Given the description of an element on the screen output the (x, y) to click on. 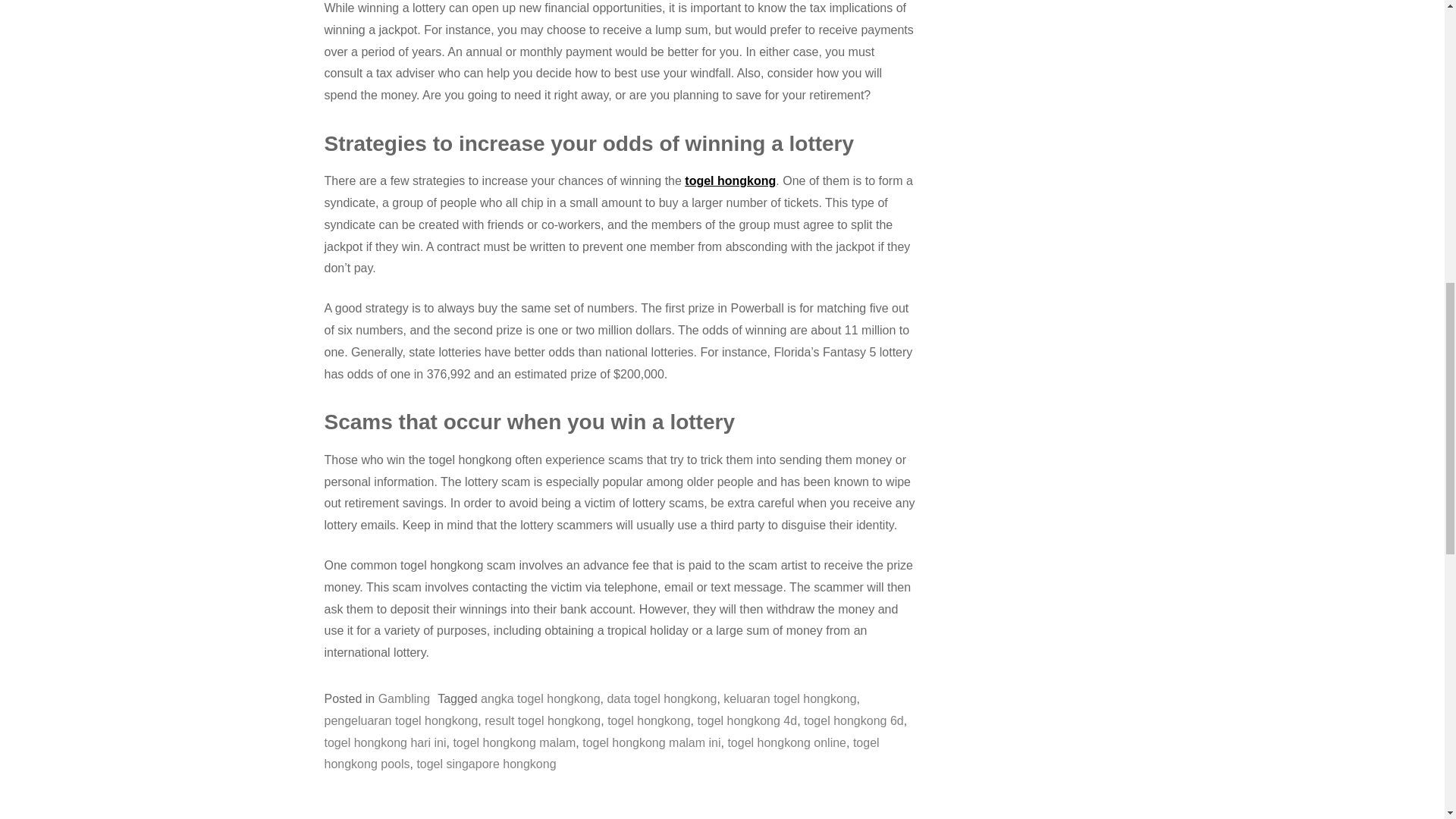
togel hongkong malam (513, 742)
togel hongkong hari ini (385, 742)
togel hongkong (730, 180)
result togel hongkong (541, 720)
togel hongkong pools (601, 753)
data togel hongkong (661, 698)
Gambling (403, 698)
togel hongkong malam ini (651, 742)
pengeluaran togel hongkong (401, 720)
togel hongkong 4d (746, 720)
angka togel hongkong (539, 698)
togel hongkong online (785, 742)
togel hongkong (648, 720)
keluaran togel hongkong (789, 698)
togel singapore hongkong (486, 763)
